Given the description of an element on the screen output the (x, y) to click on. 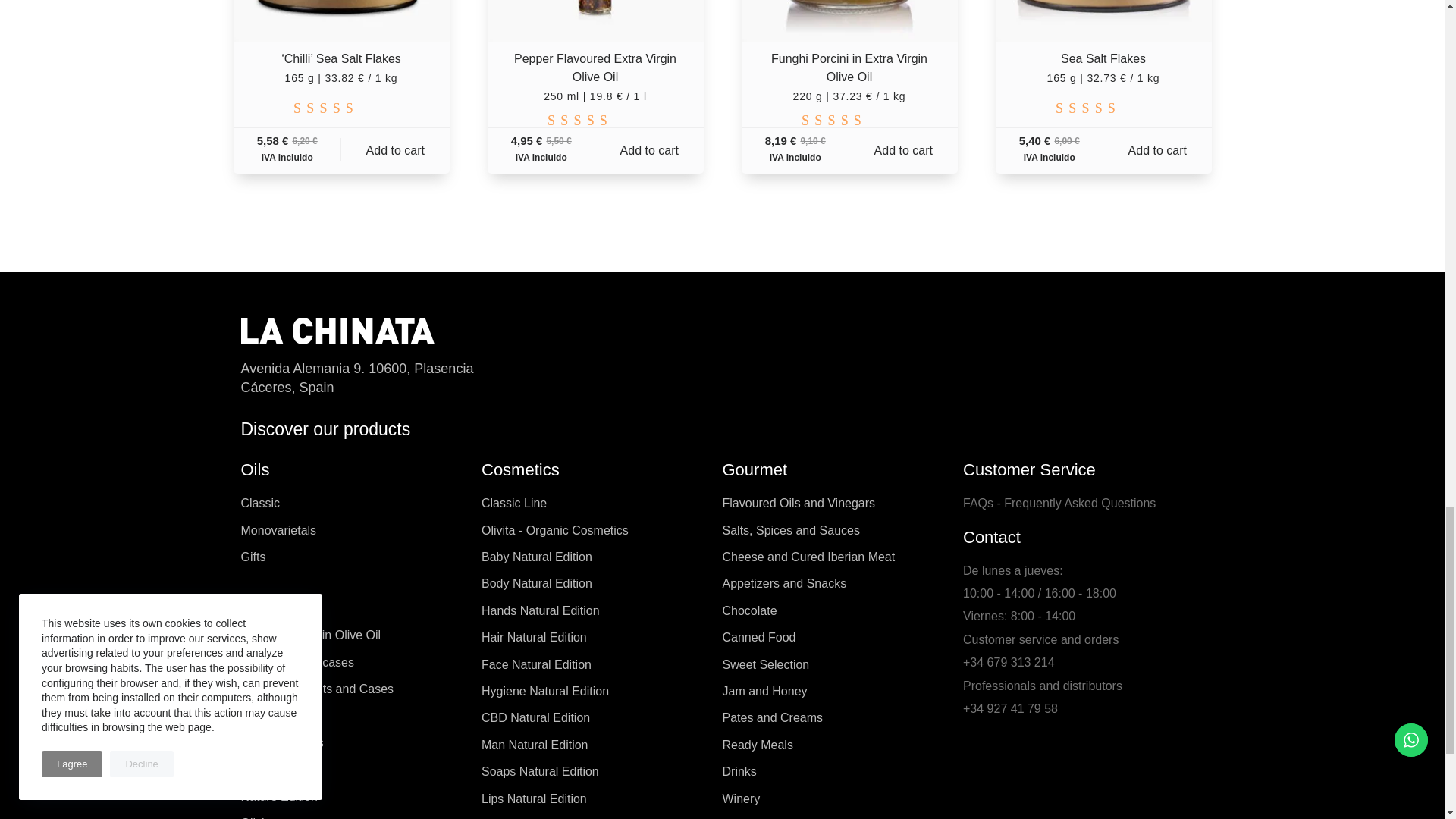
Pepper Flavoured Extra Virgin Olive Oil (594, 21)
Funghi Porcini in Extra Virgin Olive Oil (849, 21)
Sea Salt Flakes (1102, 21)
